Given the description of an element on the screen output the (x, y) to click on. 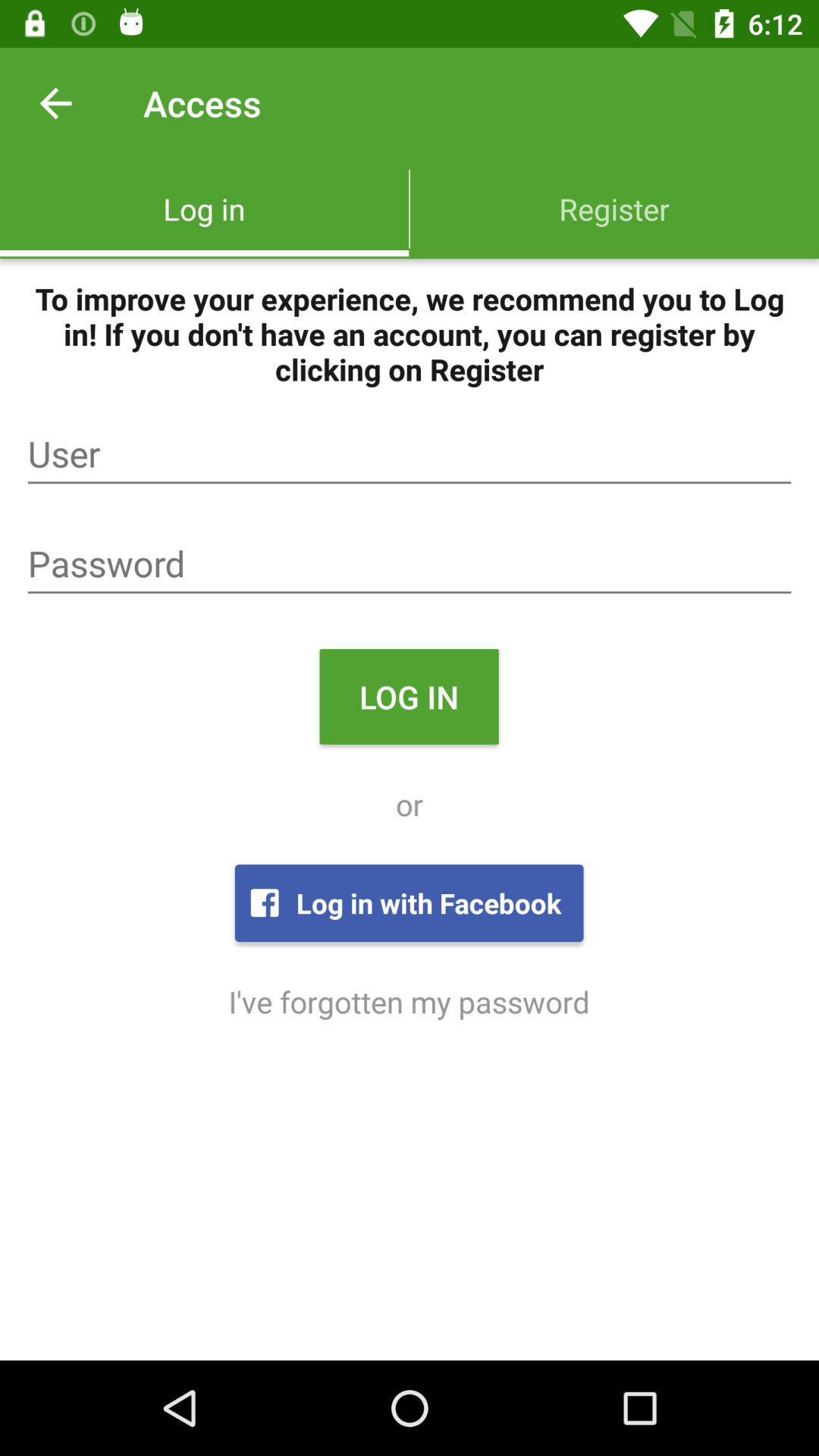
open the item above the log in item (409, 564)
